Given the description of an element on the screen output the (x, y) to click on. 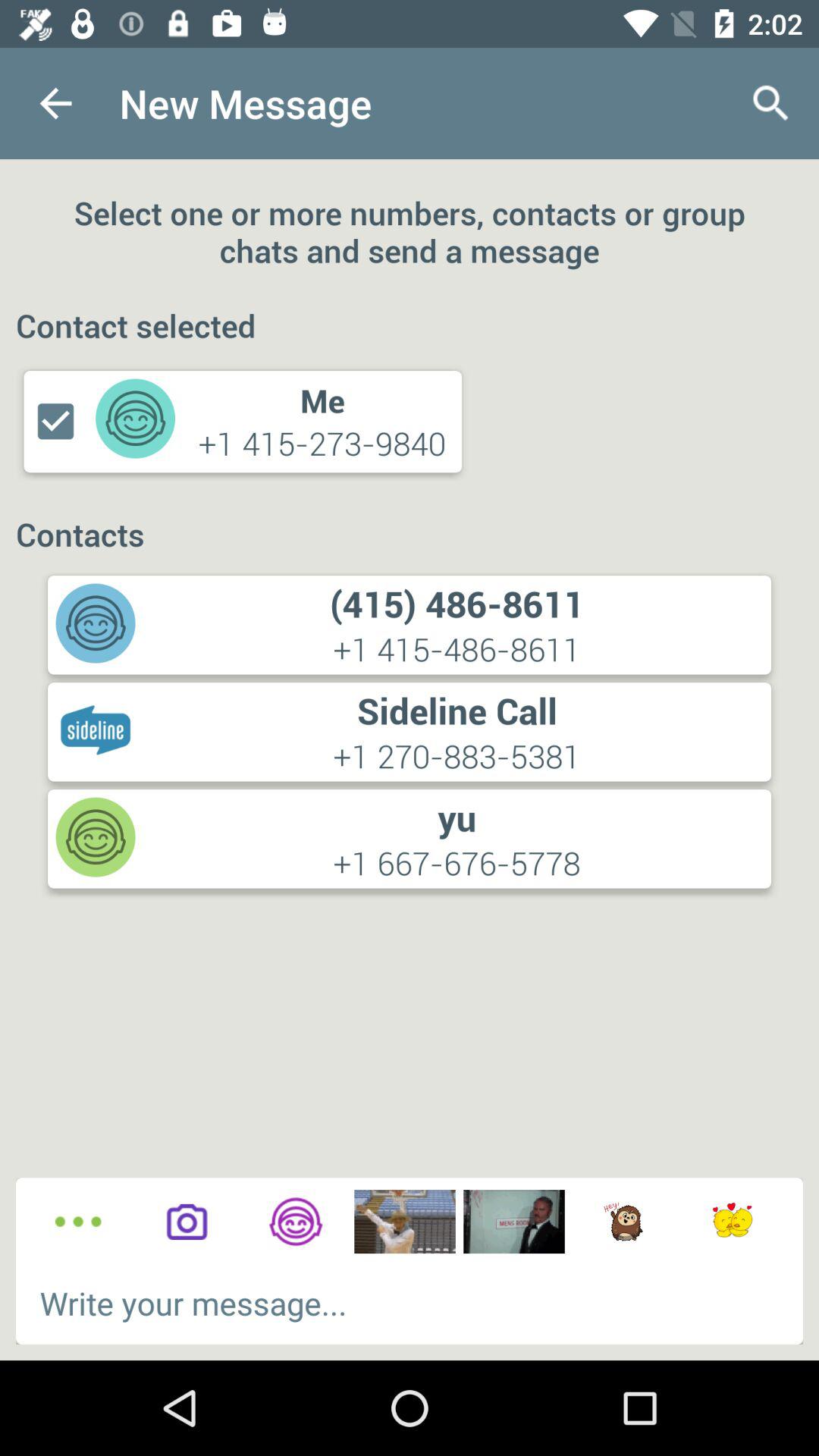
turn on the icon above the select one or item (55, 103)
